Given the description of an element on the screen output the (x, y) to click on. 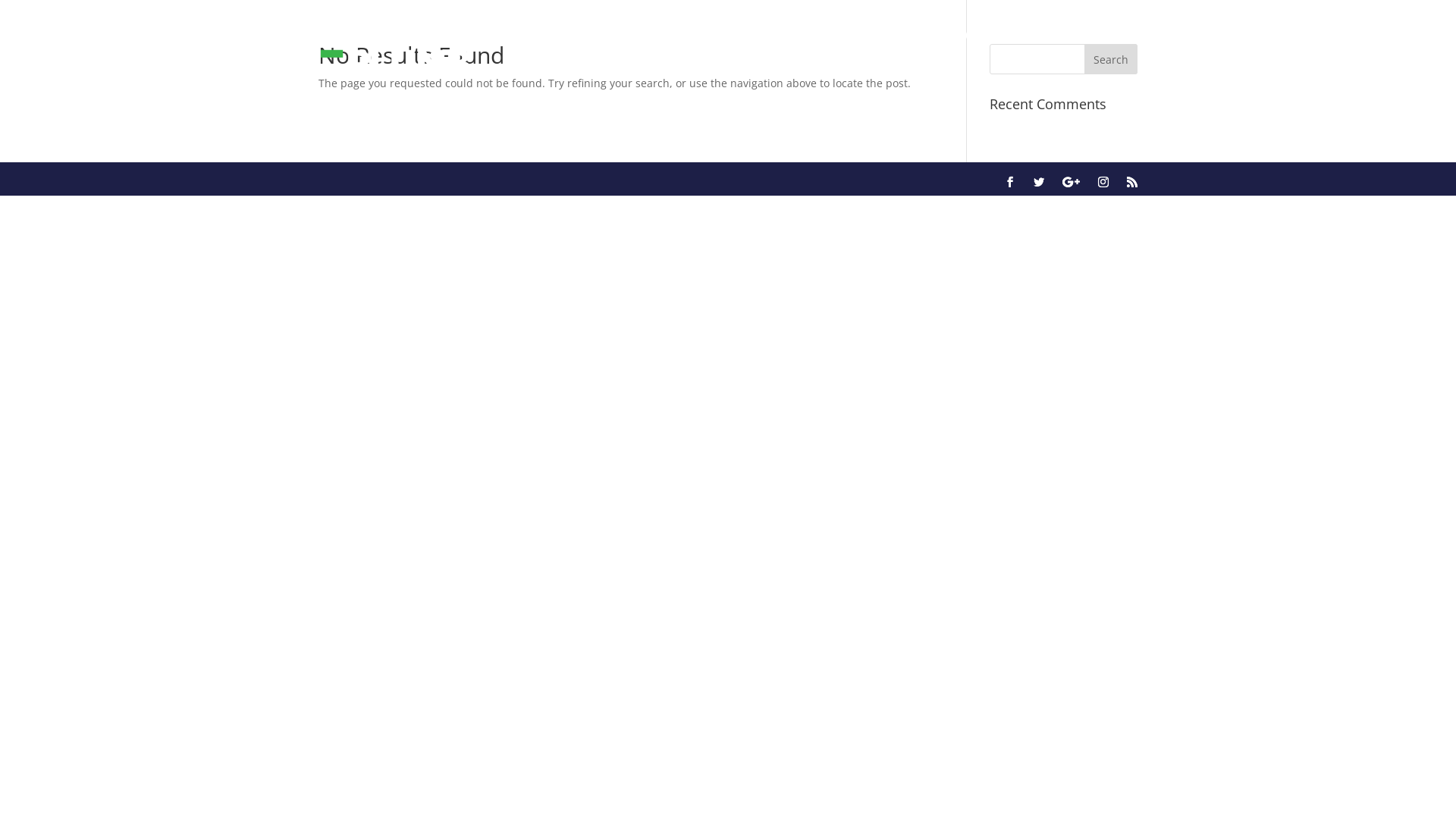
Search Element type: text (1110, 58)
0499 418 867 Element type: text (1059, 31)
